Given the description of an element on the screen output the (x, y) to click on. 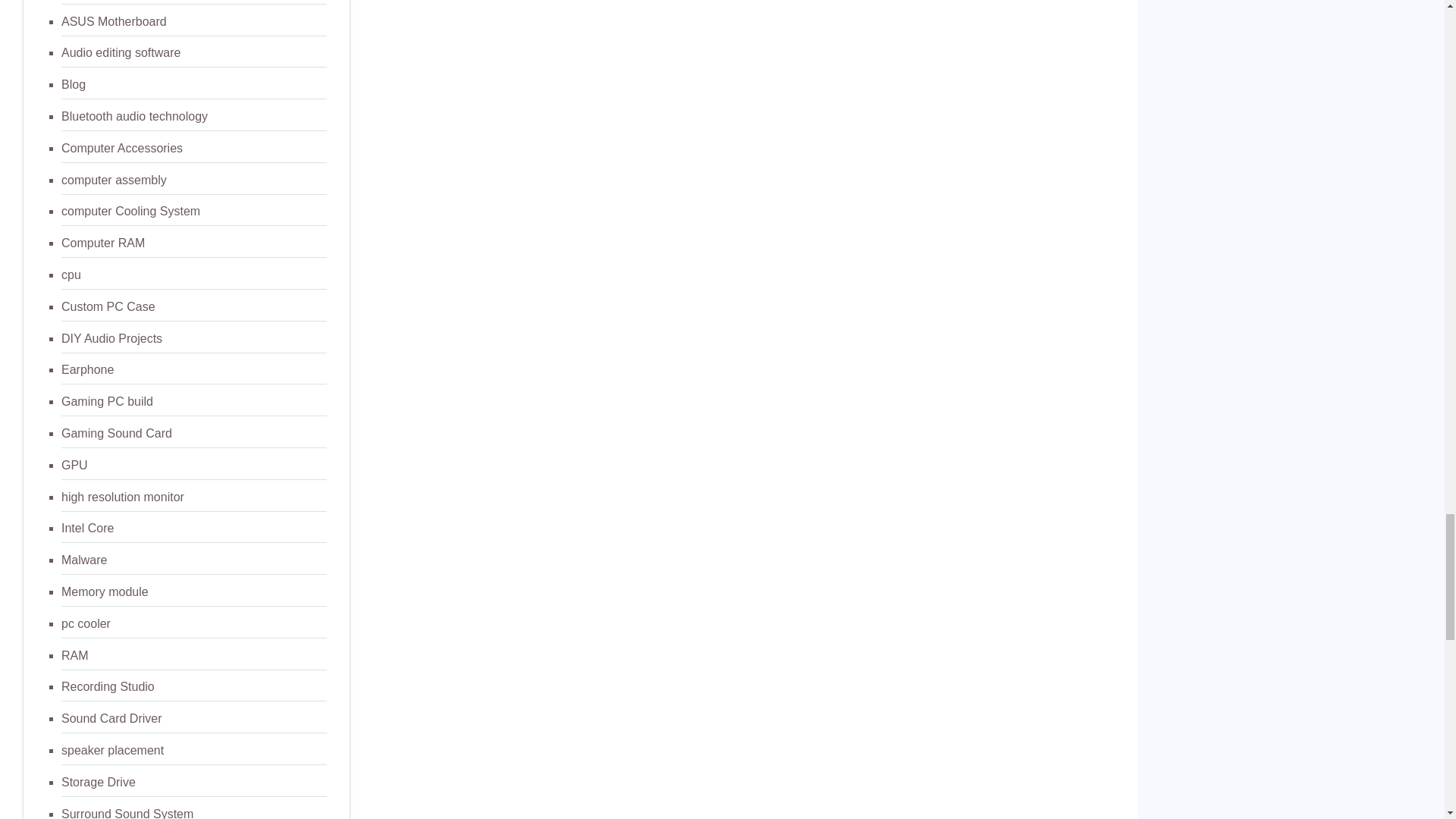
ASUS Motherboard (114, 21)
Audio editing software (120, 51)
